Given the description of an element on the screen output the (x, y) to click on. 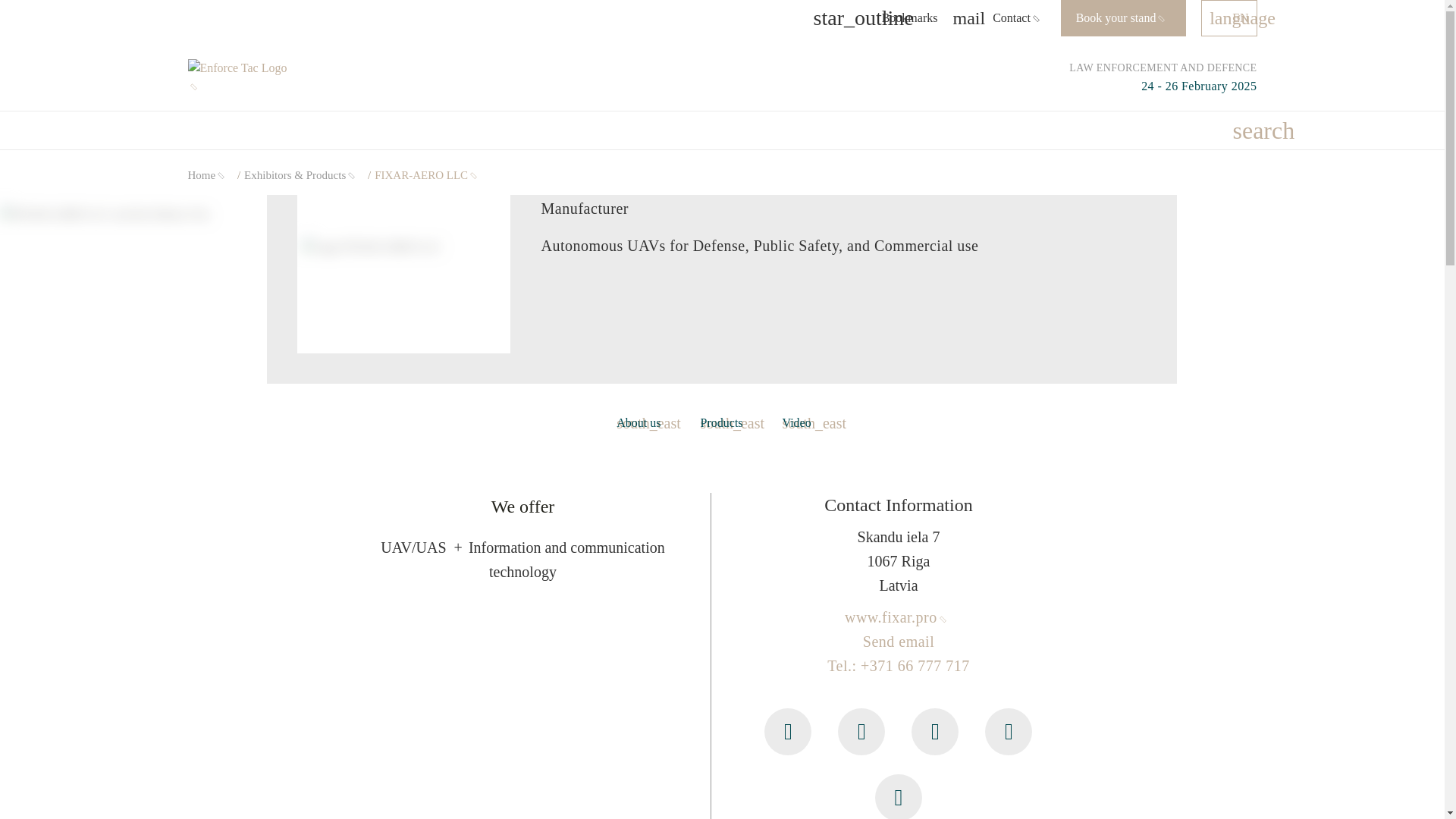
Book your stand (1123, 17)
Link to the stand booking (1123, 17)
Contact (1005, 18)
Contact the Enforce Tac team (1005, 18)
